Given the description of an element on the screen output the (x, y) to click on. 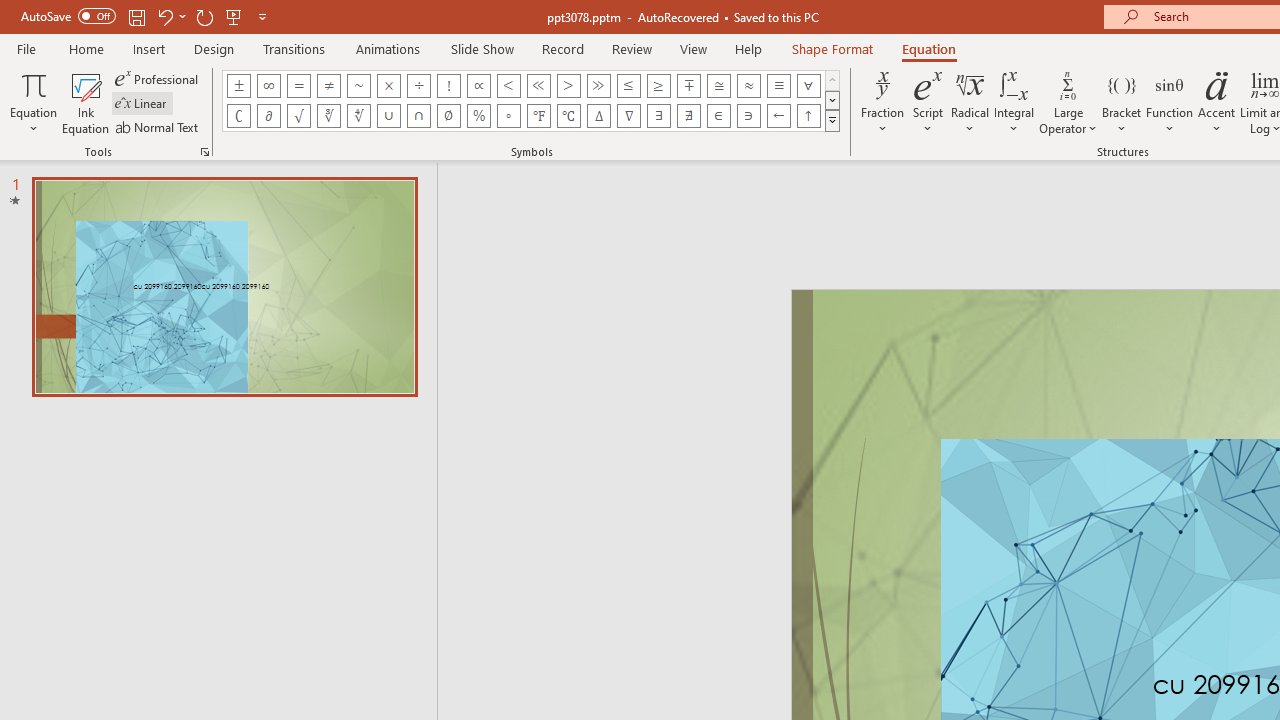
Radical (970, 102)
Equation Symbol Greater Than or Equal To (658, 85)
Equation Symbol Cube Root (328, 115)
Fraction (882, 102)
Equation Symbol Equal (298, 85)
Equation Symbol Approximately Equal To (718, 85)
Equation Symbol Less Than (508, 85)
Function (1169, 102)
Script (927, 102)
Equation Symbol Much Less Than (538, 85)
Bracket (1121, 102)
